Given the description of an element on the screen output the (x, y) to click on. 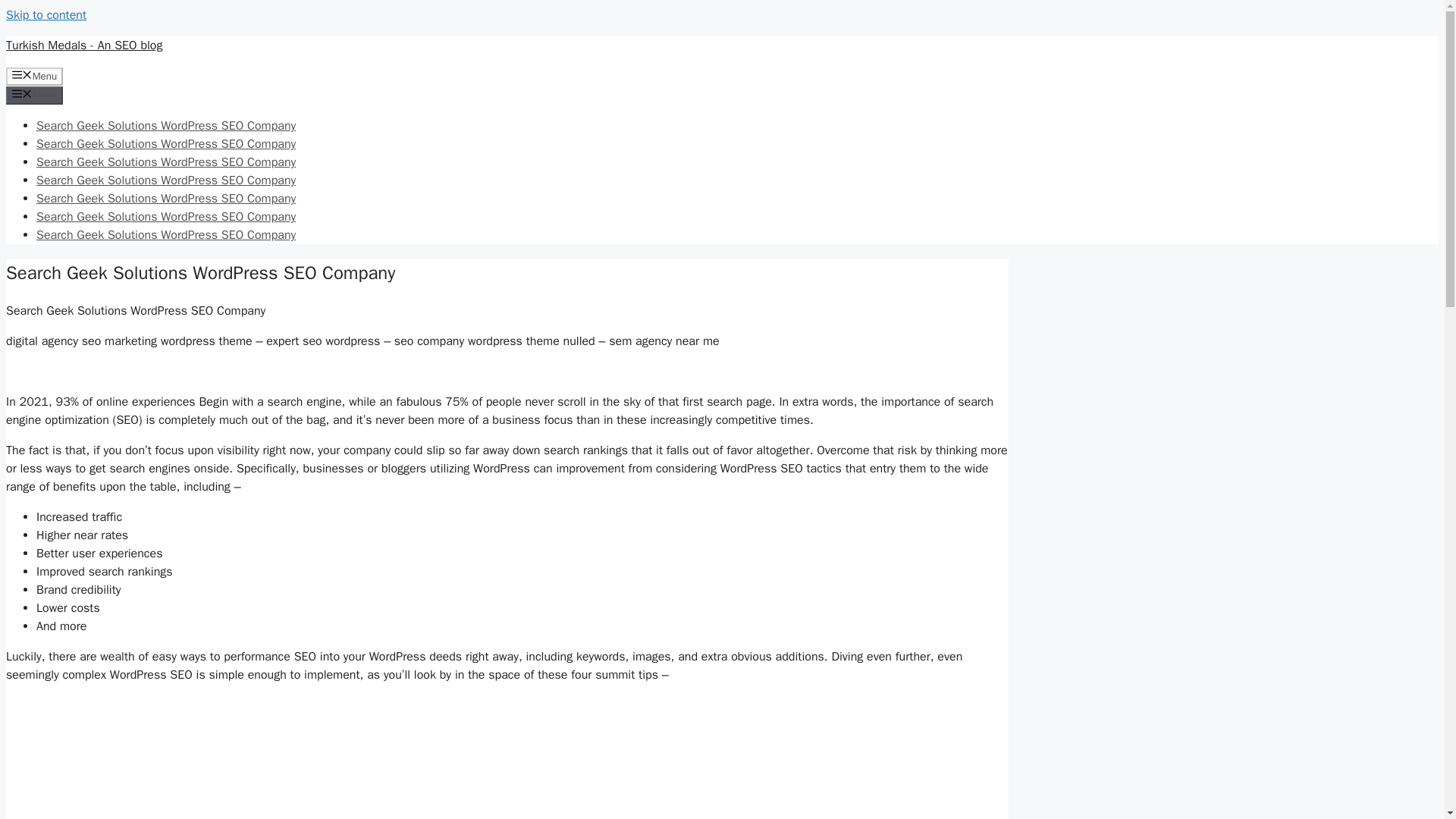
Turkish Medals - An SEO blog (83, 45)
Search Geek Solutions WordPress SEO Company (165, 234)
Search Geek Solutions WordPress SEO Company (165, 180)
Search Geek Solutions WordPress SEO Company (165, 143)
Search Geek Solutions WordPress SEO Company (165, 198)
Menu (33, 76)
Menu (33, 95)
Search Geek Solutions WordPress SEO Company (165, 216)
Skip to content (45, 14)
Skip to content (45, 14)
Search Geek Solutions WordPress SEO Company (165, 161)
Search Geek Solutions WordPress SEO Company (165, 125)
